Given the description of an element on the screen output the (x, y) to click on. 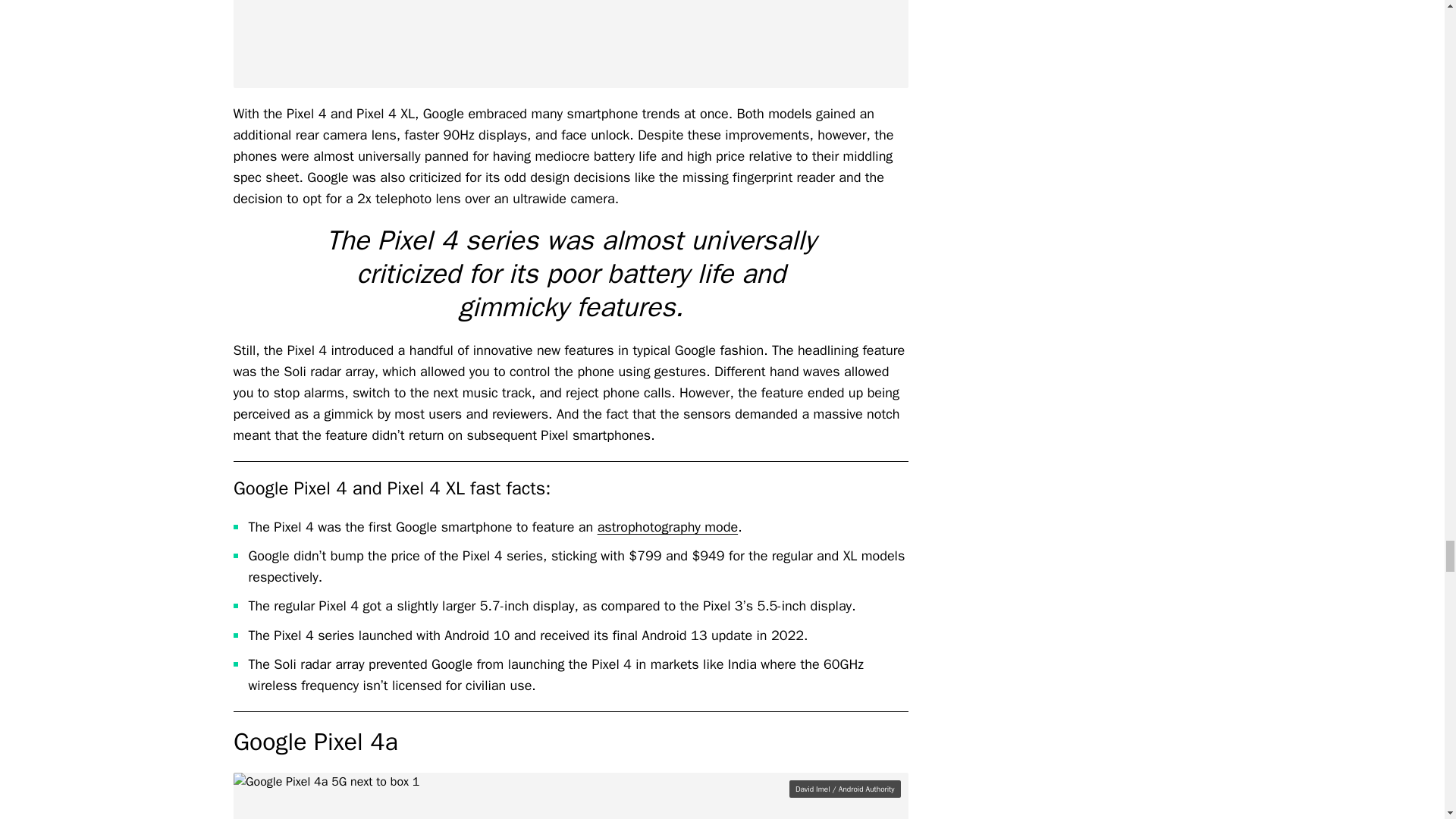
Google Pixel 4a 5G next to box 1 (570, 796)
Google Pixel 4 on tripod (570, 43)
